Given the description of an element on the screen output the (x, y) to click on. 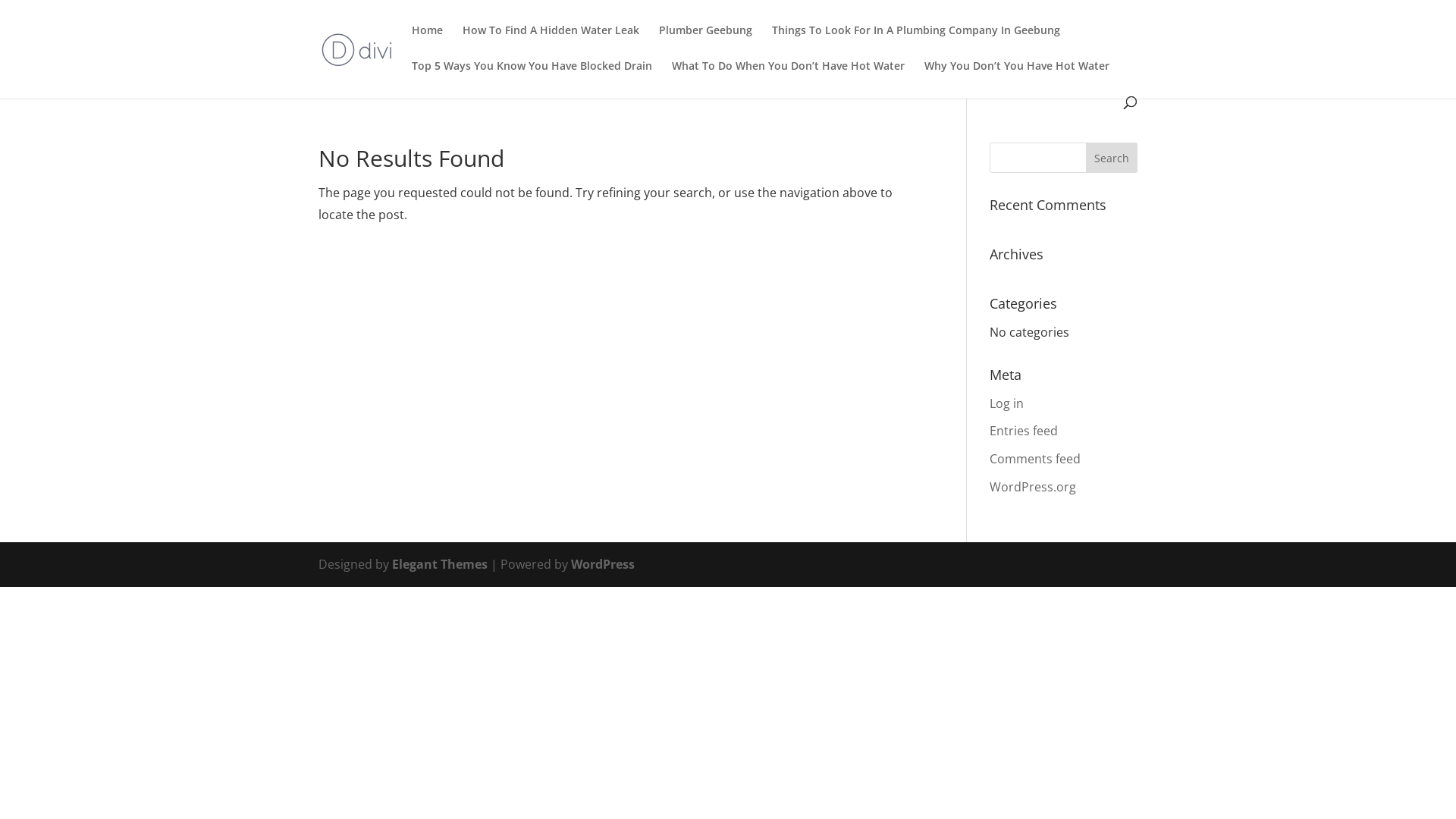
Top 5 Ways You Know You Have Blocked Drain Element type: text (531, 78)
Search Element type: text (1111, 157)
WordPress.org Element type: text (1032, 486)
Log in Element type: text (1006, 403)
How To Find A Hidden Water Leak Element type: text (550, 42)
Elegant Themes Element type: text (439, 563)
WordPress Element type: text (602, 563)
Things To Look For In A Plumbing Company In Geebung Element type: text (915, 42)
Plumber Geebung Element type: text (705, 42)
Comments feed Element type: text (1034, 458)
Home Element type: text (426, 42)
Entries feed Element type: text (1023, 430)
